Given the description of an element on the screen output the (x, y) to click on. 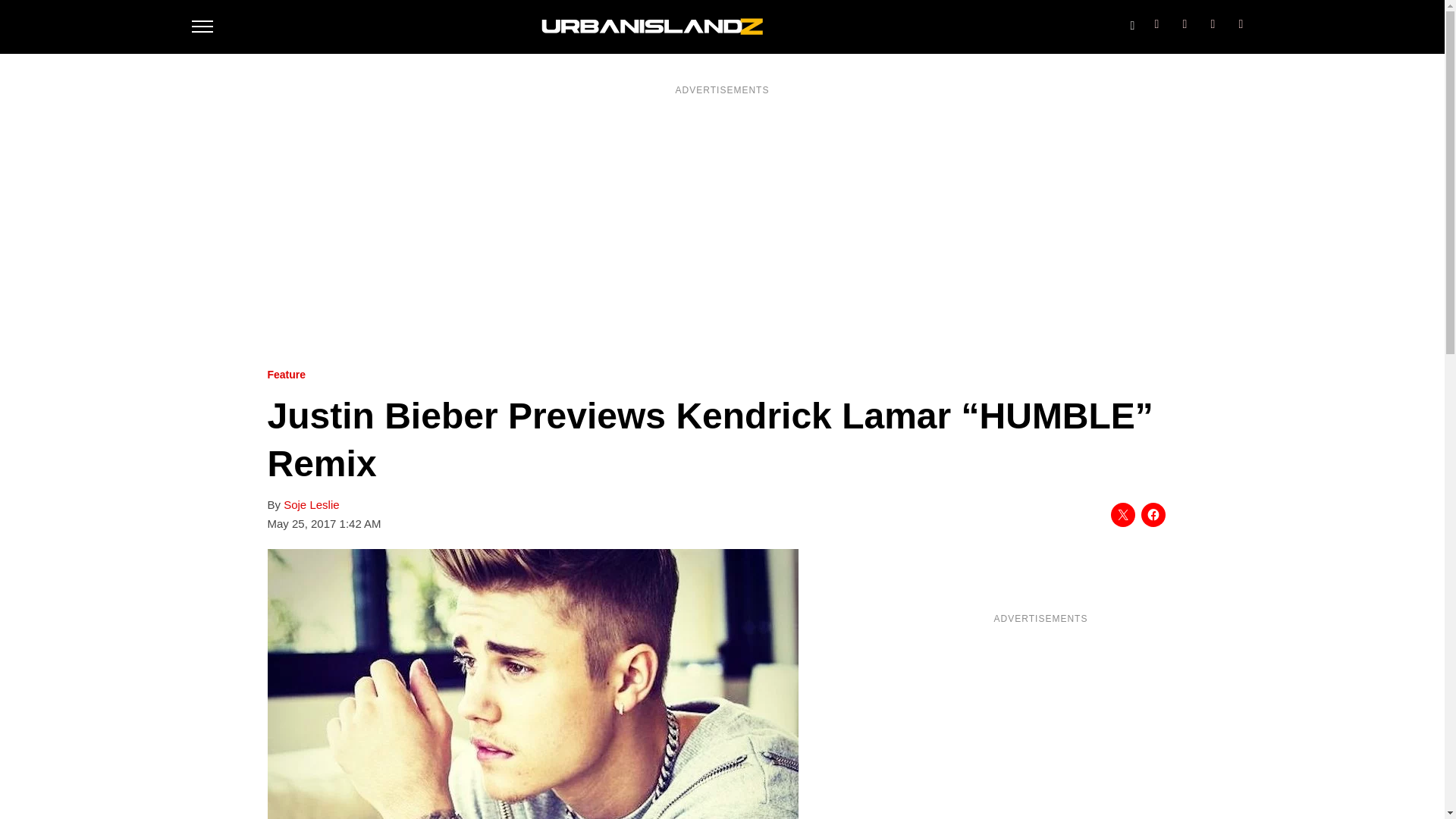
Posts by Soje Leslie (311, 504)
Search (1131, 22)
Feature (285, 375)
Click to share on Facebook (1152, 514)
Click to share on X (1121, 514)
Soje Leslie (311, 504)
